Given the description of an element on the screen output the (x, y) to click on. 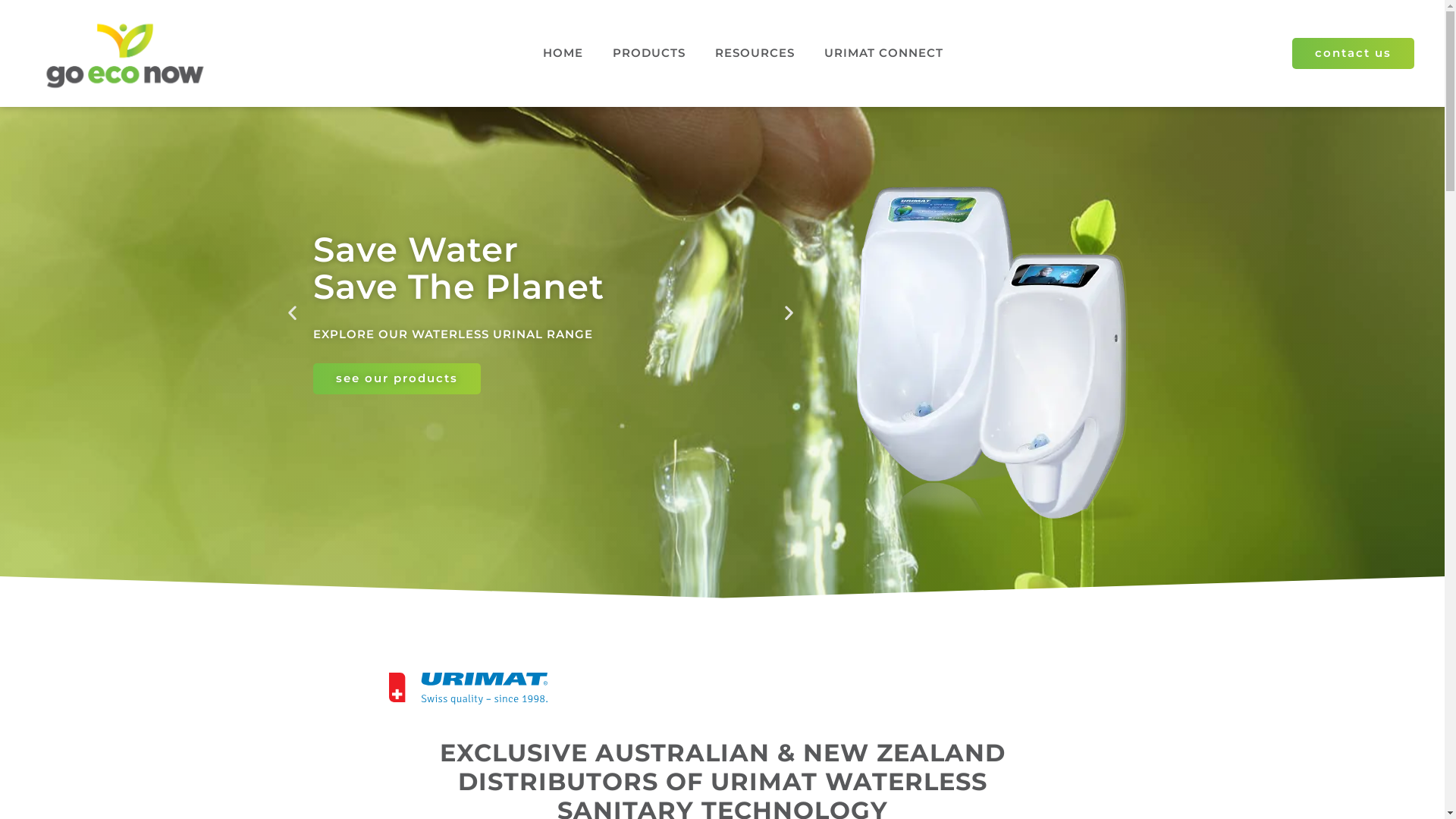
RESOURCES Element type: text (754, 53)
PRODUCTS Element type: text (649, 53)
URIMAT CONNECT Element type: text (883, 53)
contact us Element type: text (1353, 53)
HOME Element type: text (562, 53)
